Given the description of an element on the screen output the (x, y) to click on. 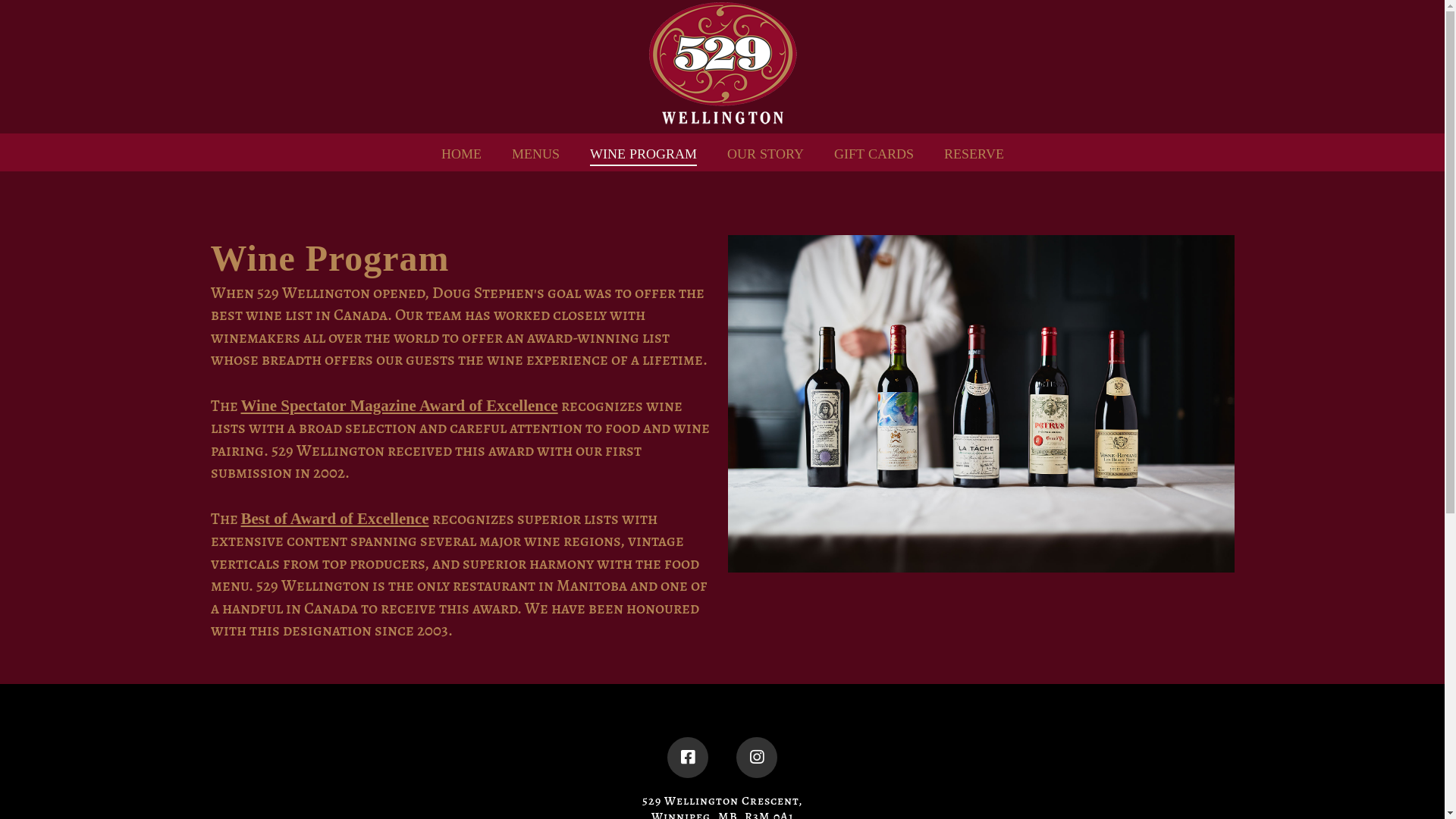
MENUS Element type: text (534, 152)
RESERVE Element type: text (973, 152)
OUR STORY Element type: text (764, 152)
Instagram Element type: hover (756, 757)
WINE PROGRAM Element type: text (643, 152)
Facebook Element type: hover (687, 757)
GIFT CARDS Element type: text (873, 152)
HOME Element type: text (461, 152)
